Given the description of an element on the screen output the (x, y) to click on. 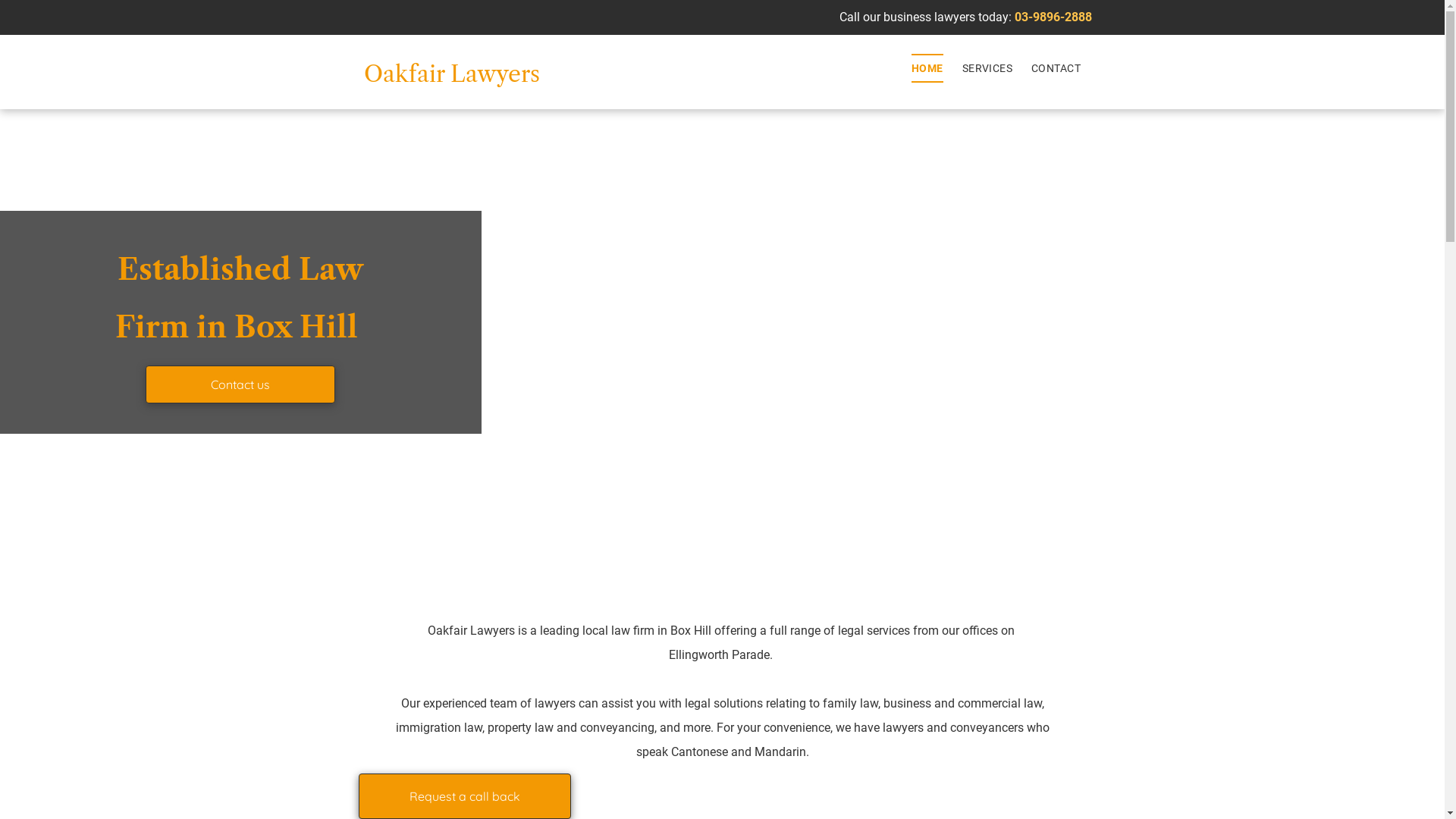
SERVICES Element type: text (977, 68)
03-9896-2888 Element type: text (1053, 16)
HOME Element type: text (917, 68)
Oakfair Lawyers Element type: text (451, 73)
Contact us Element type: text (240, 384)
CONTACT Element type: text (1046, 68)
